Given the description of an element on the screen output the (x, y) to click on. 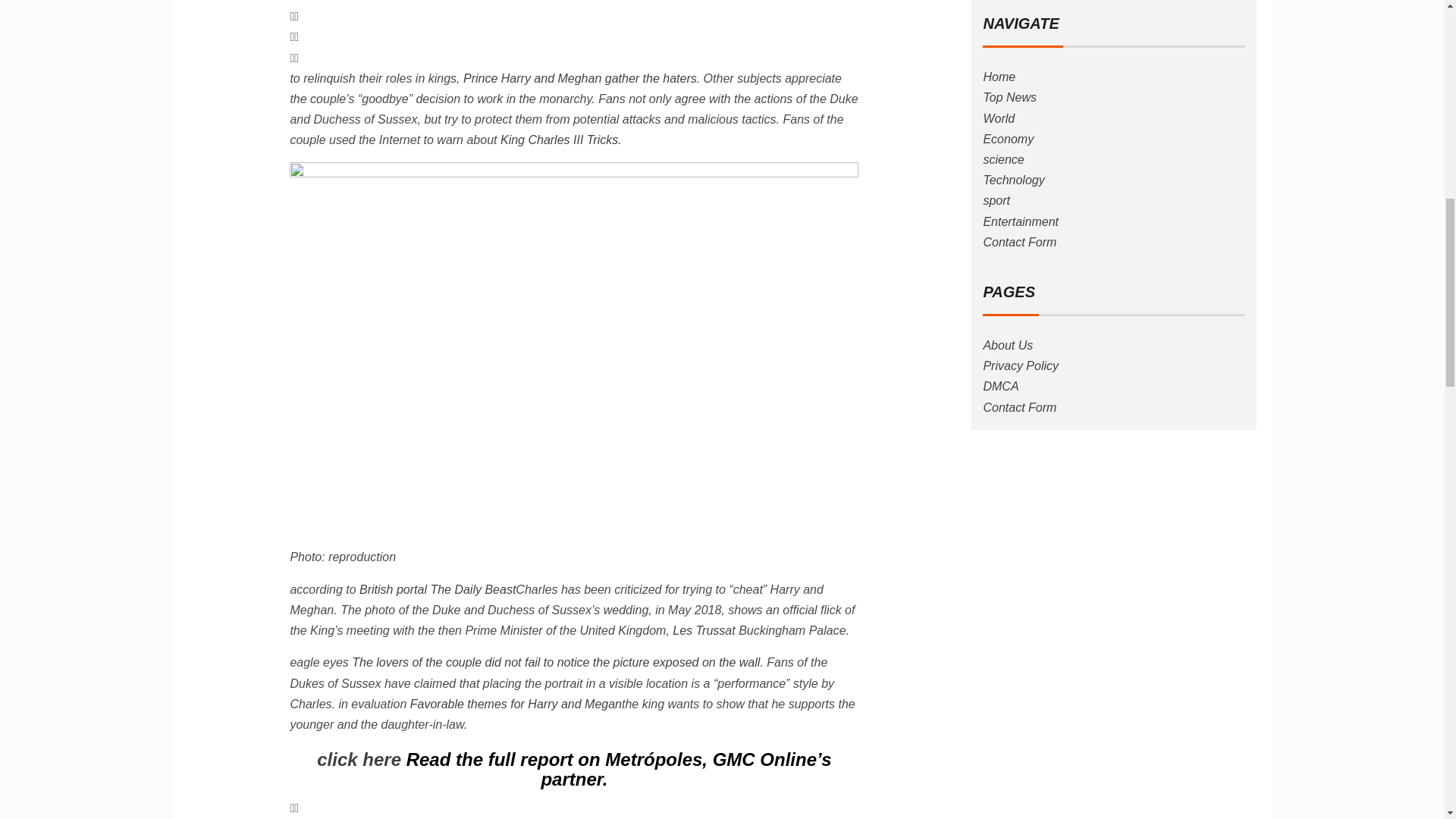
Favorable themes for Harry and Megan (515, 703)
King Charles III Tricks (558, 139)
click here (359, 759)
Prince Harry and Meghan gather the haters (580, 78)
British portal The Daily Beast (437, 589)
Les Truss (698, 630)
